Given the description of an element on the screen output the (x, y) to click on. 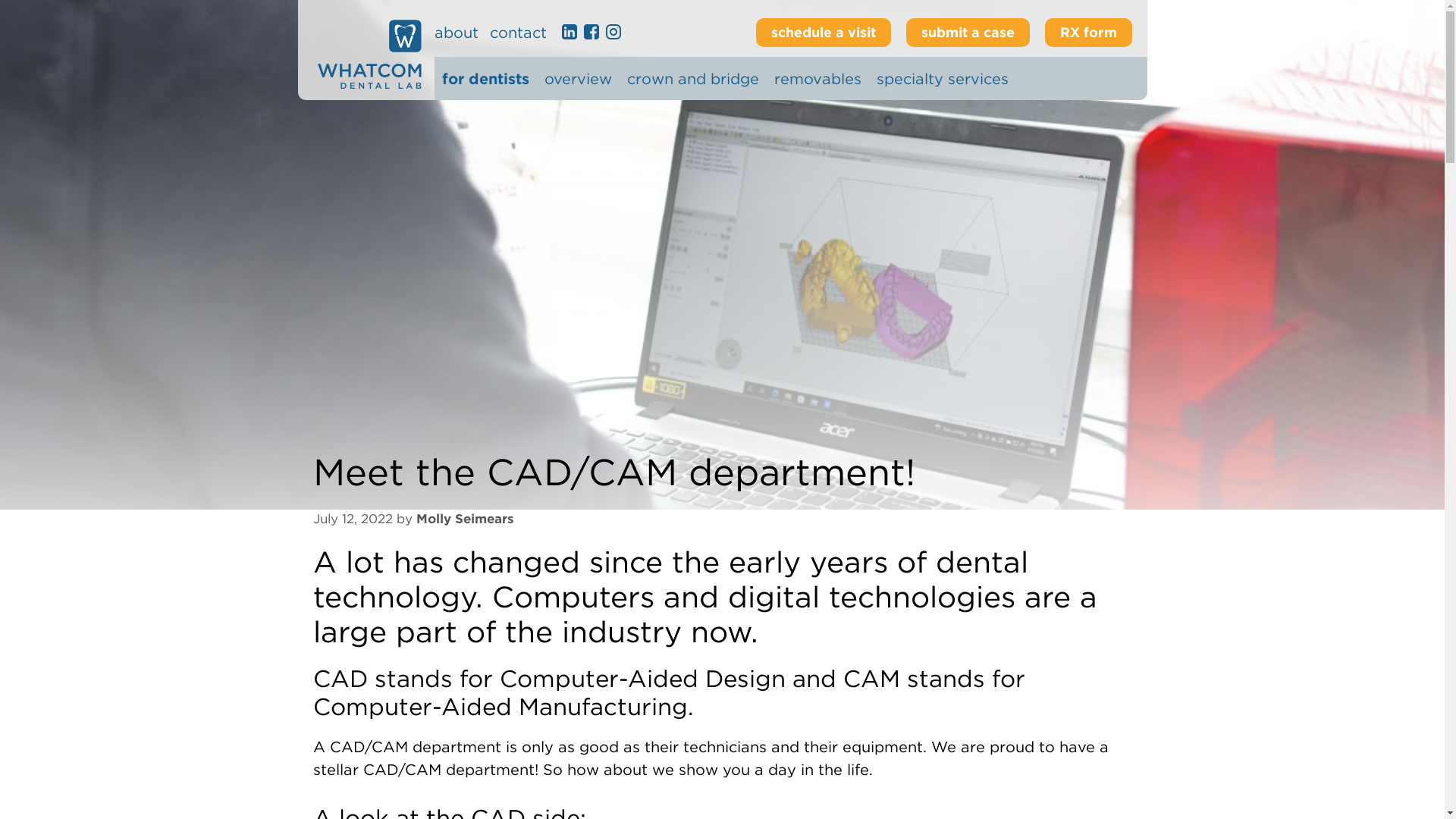
RX form (1088, 32)
about (455, 32)
contact (518, 32)
for dentists (484, 78)
submit a case (967, 32)
schedule a visit (822, 32)
View all posts by Molly Seimears (463, 518)
